Given the description of an element on the screen output the (x, y) to click on. 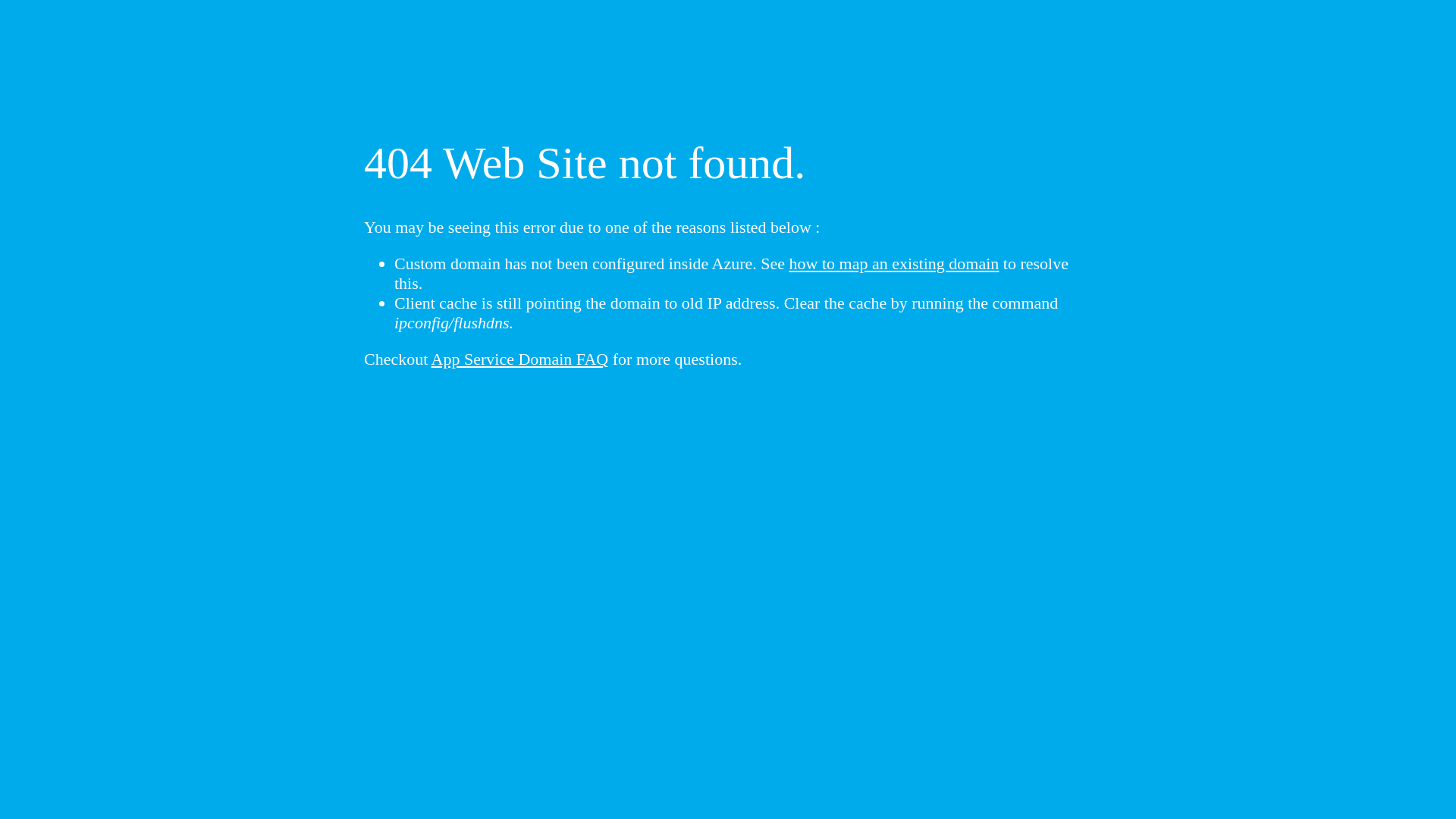
how to map an existing domain Element type: text (894, 263)
App Service Domain FAQ Element type: text (519, 358)
